Given the description of an element on the screen output the (x, y) to click on. 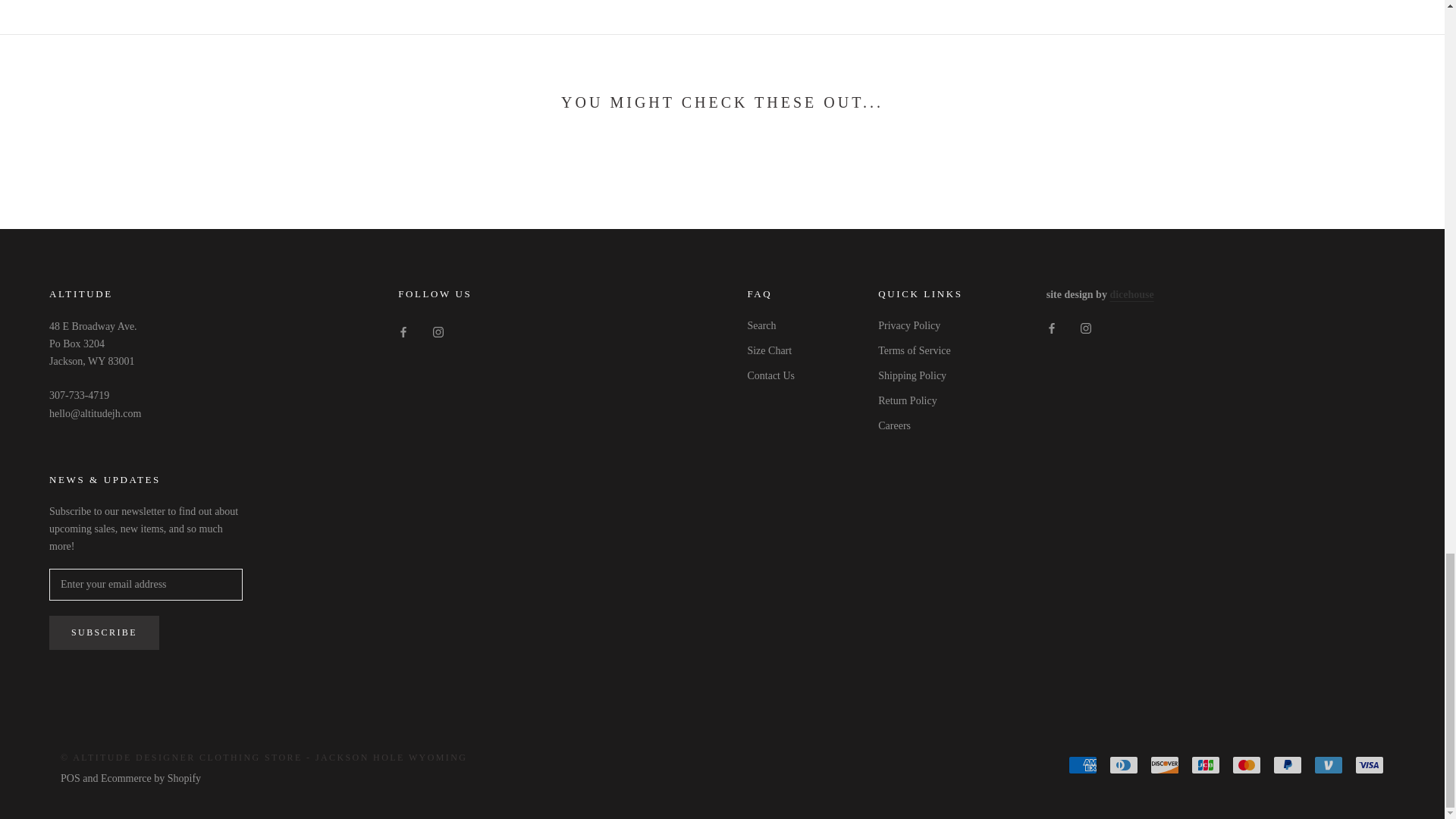
Discover (1164, 764)
American Express (1082, 764)
JCB (1205, 764)
Mastercard (1245, 764)
PayPal (1286, 764)
Diners Club (1123, 764)
